Given the description of an element on the screen output the (x, y) to click on. 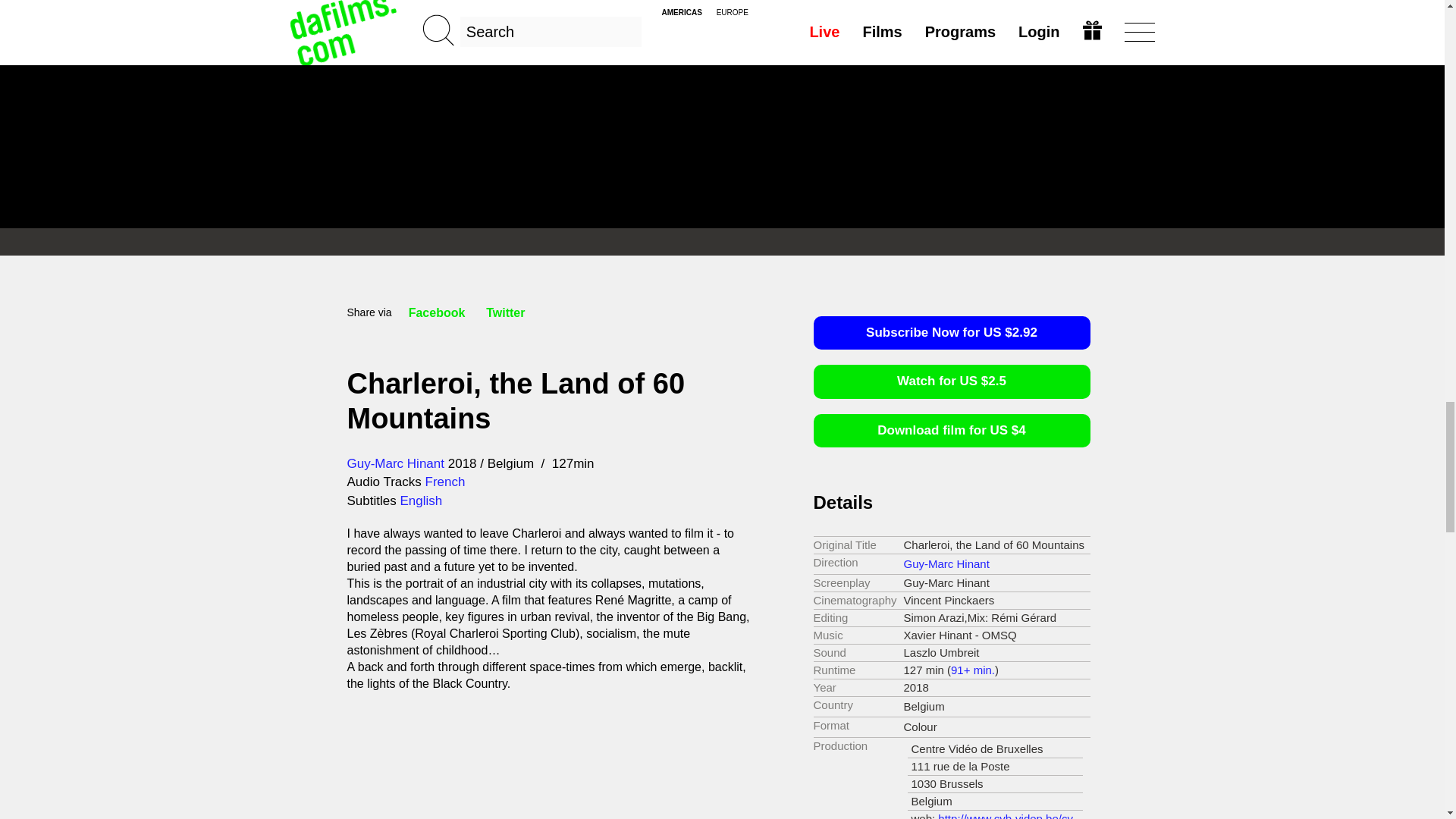
French (444, 481)
English (420, 500)
Guy-Marc Hinant (947, 562)
Twitter (505, 313)
Facebook (436, 313)
Guy-Marc Hinant (395, 463)
